Given the description of an element on the screen output the (x, y) to click on. 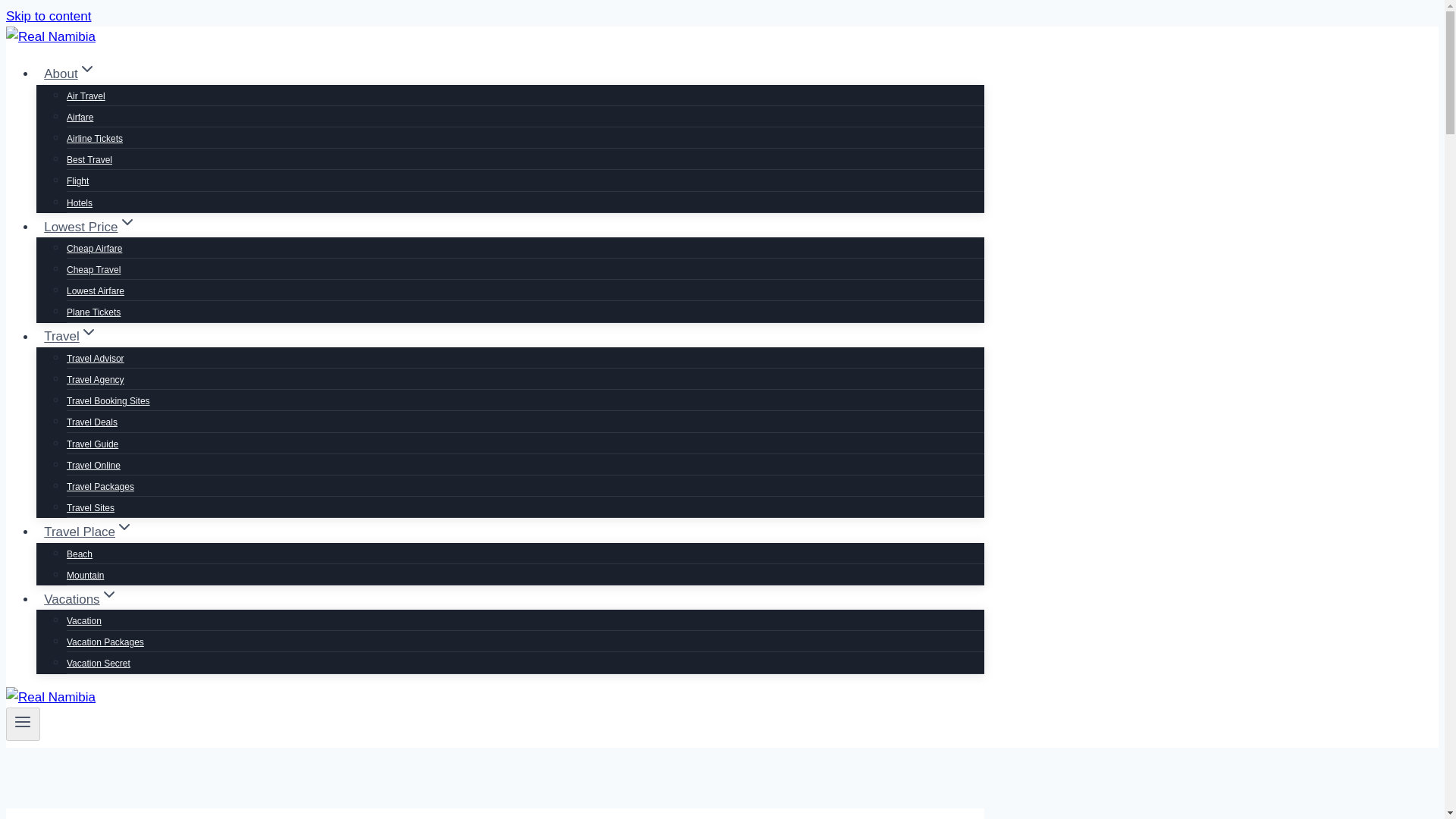
Airfare (79, 117)
Flight (77, 181)
Travel Online (93, 465)
VacationsExpand (80, 599)
Expand (87, 68)
Expand (124, 526)
Toggle Menu (22, 724)
Travel Deals (91, 421)
Cheap Airfare (94, 248)
Cheap Travel (93, 269)
Air Travel (85, 95)
Travel Guide (91, 443)
TravelExpand (70, 336)
Beach (79, 553)
Travel Sites (90, 507)
